Given the description of an element on the screen output the (x, y) to click on. 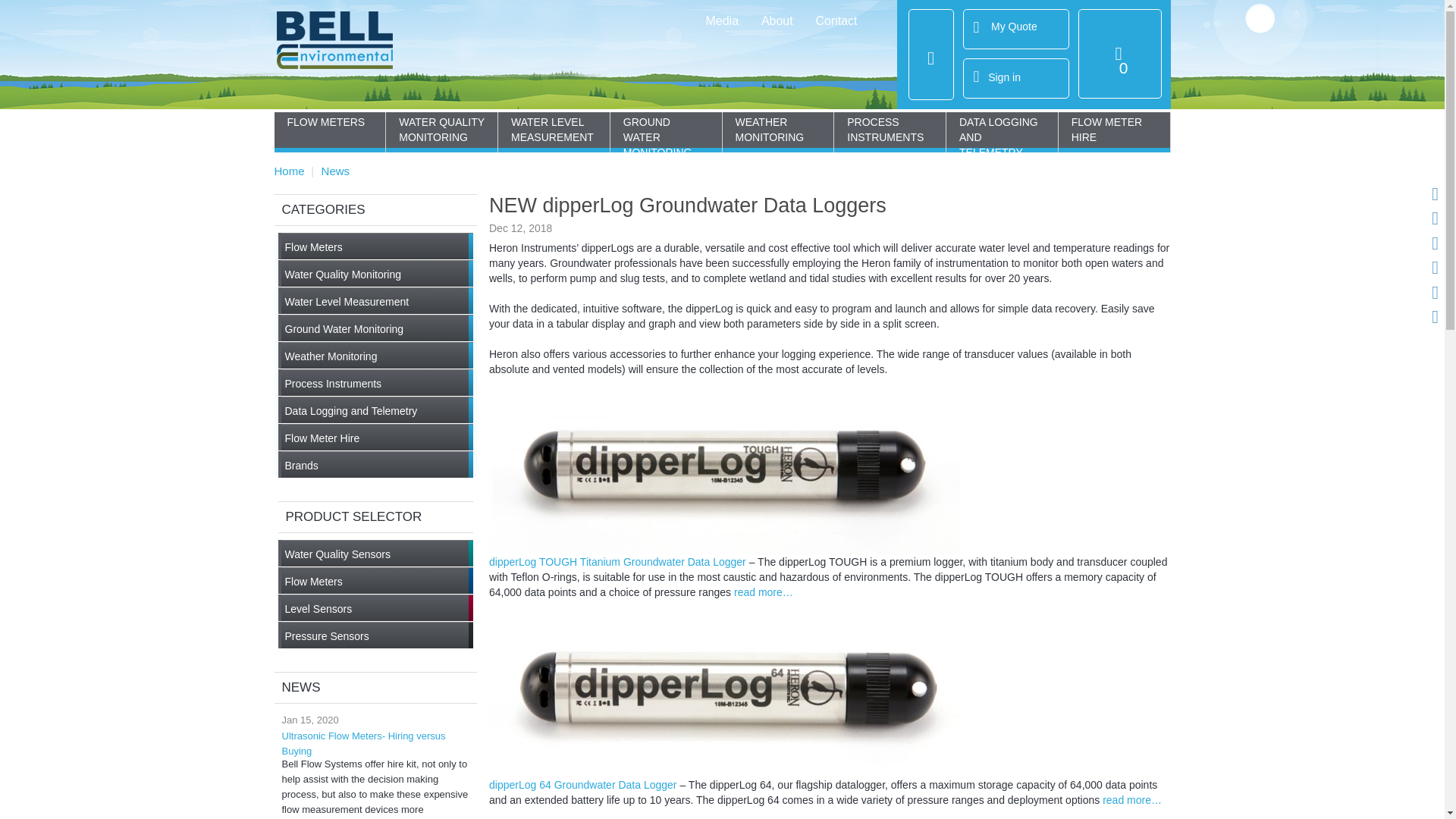
Water Quality Monitoring (377, 273)
WEATHER MONITORING (777, 129)
About (777, 21)
Home (289, 170)
WATER LEVEL MEASUREMENT (553, 129)
GROUND WATER MONITORING (666, 137)
Data Logging and Telemetry (377, 409)
WATER QUALITY MONITORING (441, 129)
Home (342, 50)
Process Instruments (377, 382)
Water Level Measurement (377, 300)
FLOW METERS (330, 121)
Media (722, 21)
Flow Meter Hire (377, 437)
Flow Meters (377, 245)
